Given the description of an element on the screen output the (x, y) to click on. 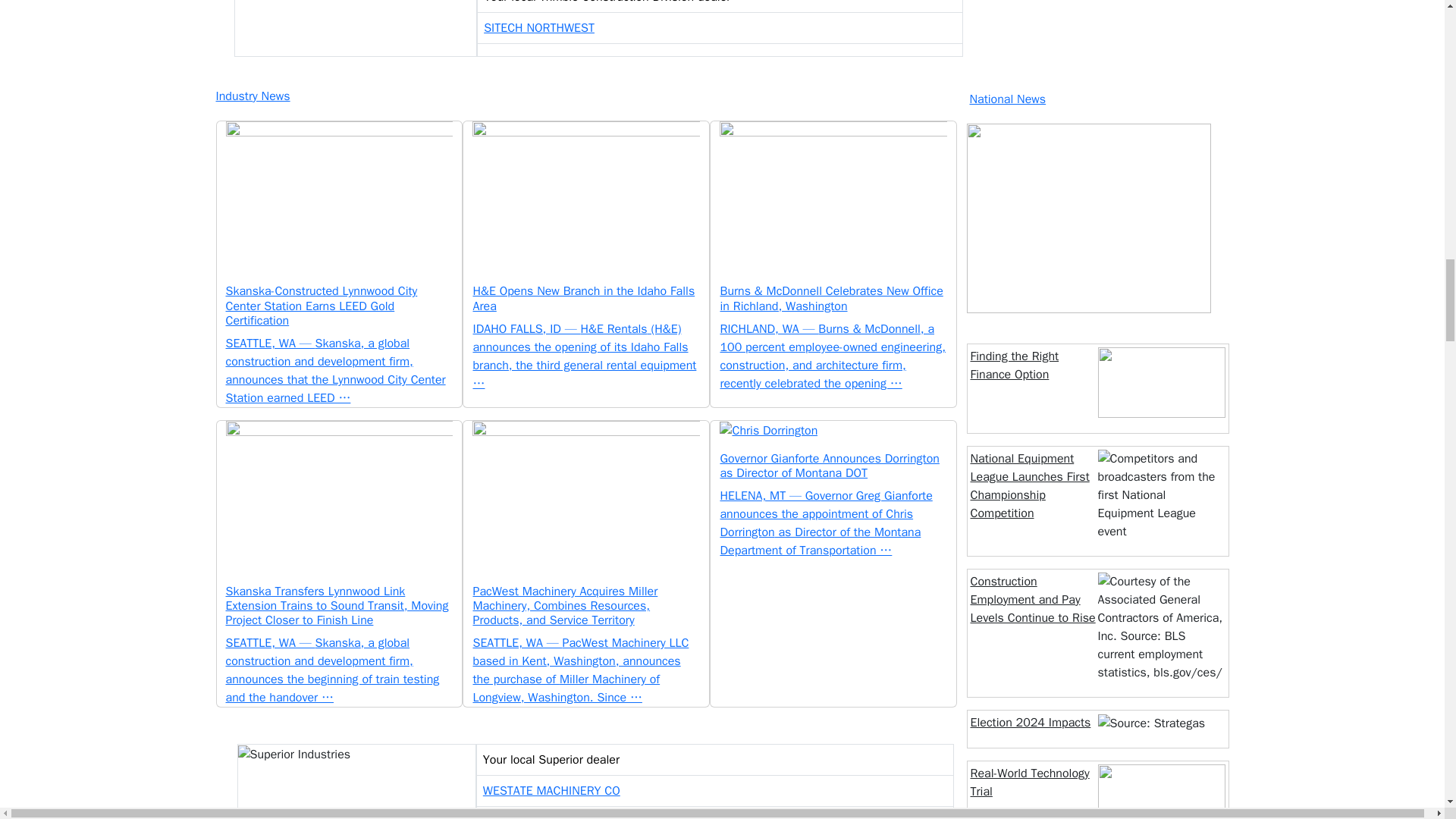
Industry News (584, 95)
WESTATE MACHINERY CO (551, 790)
SITECH NORTHWEST (538, 28)
